Given the description of an element on the screen output the (x, y) to click on. 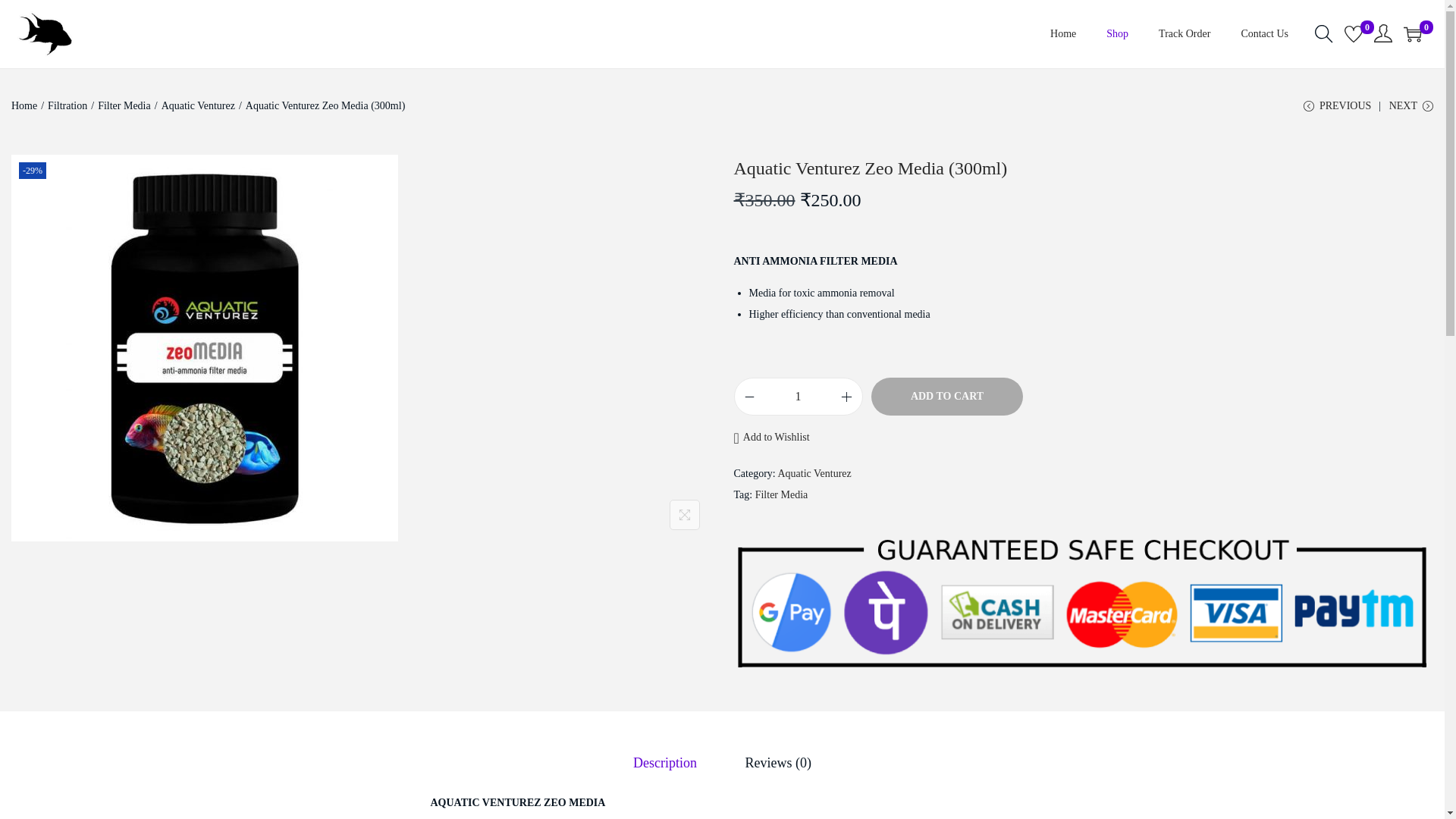
Add to Wishlist (771, 436)
Aquatic Venturez (197, 105)
ADD TO CART (946, 396)
Filter Media (781, 494)
Description (665, 762)
1 (797, 396)
Aquatic Venturez (813, 473)
0 (1412, 34)
PREVIOUS (1337, 111)
0 (1352, 34)
Filtration (67, 105)
NEXT (1410, 111)
Home (24, 105)
Filter Media (124, 105)
